Given the description of an element on the screen output the (x, y) to click on. 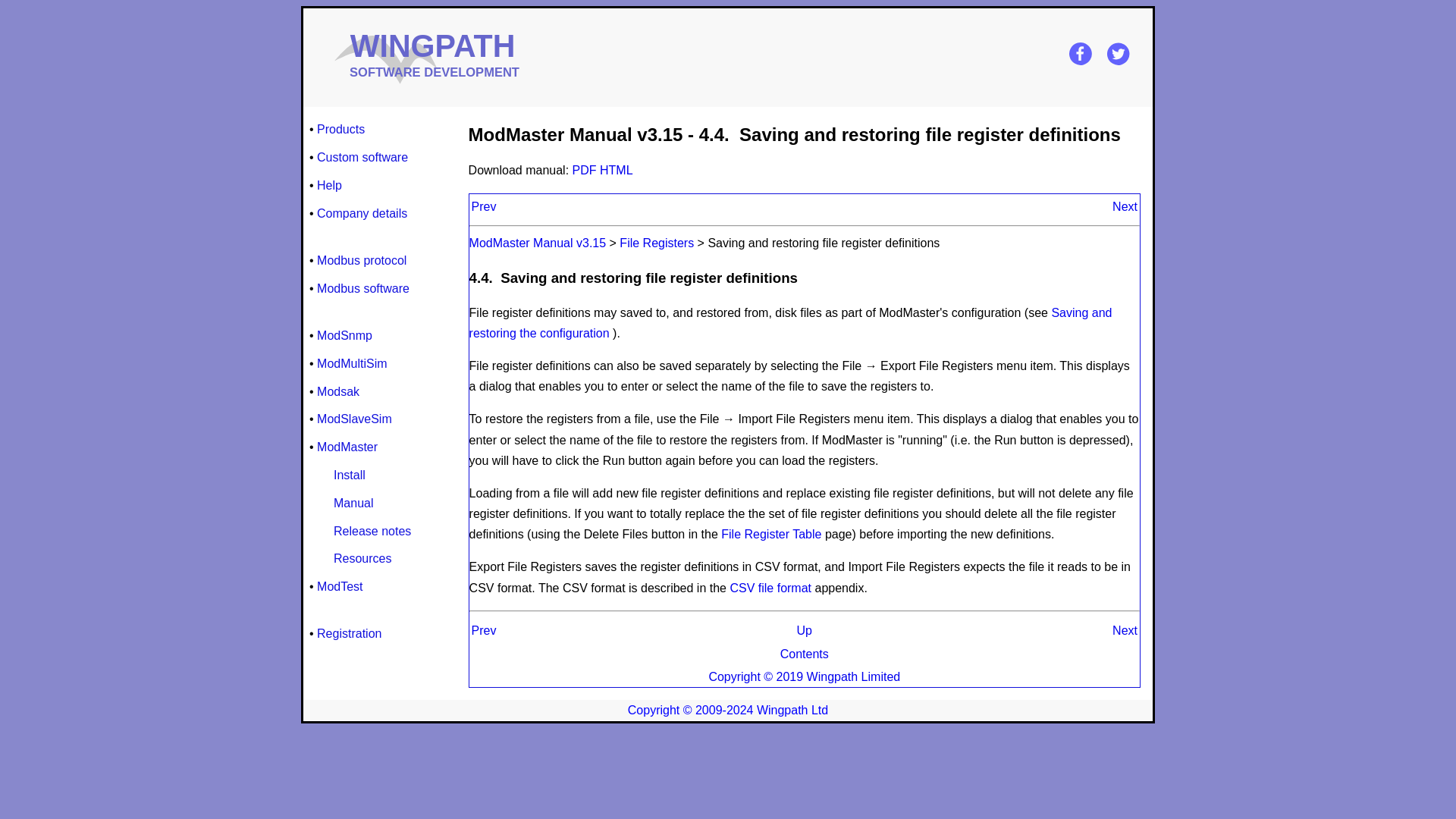
Modbus protocol (361, 260)
Next (1124, 630)
HTML (616, 169)
Saving and restoring the configuration (790, 322)
ModSlaveSim - Programmable Modbus slave simulator (354, 418)
Installing and running ModMaster (349, 475)
User manual for ModMaster (352, 503)
ModMultiSim (352, 362)
ModTest - Automated Modbus tester (339, 586)
